Given the description of an element on the screen output the (x, y) to click on. 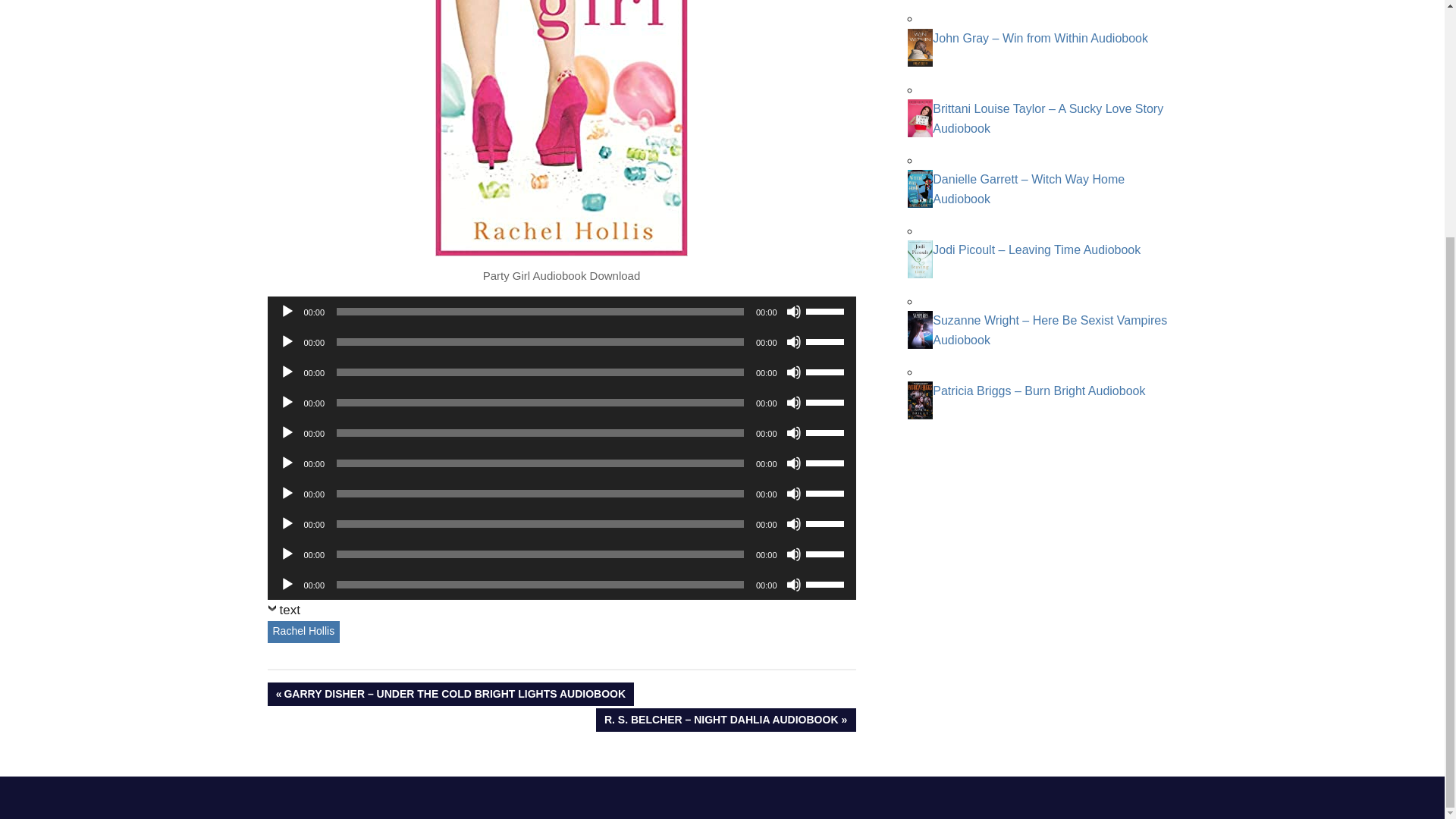
Mute (793, 402)
Play (286, 523)
Mute (793, 432)
Play (286, 311)
Mute (793, 523)
Mute (793, 311)
Mute (793, 372)
Play (286, 462)
Play (286, 341)
Play (286, 432)
Mute (793, 462)
Mute (793, 341)
Play (286, 493)
Play (286, 372)
Mute (793, 493)
